Given the description of an element on the screen output the (x, y) to click on. 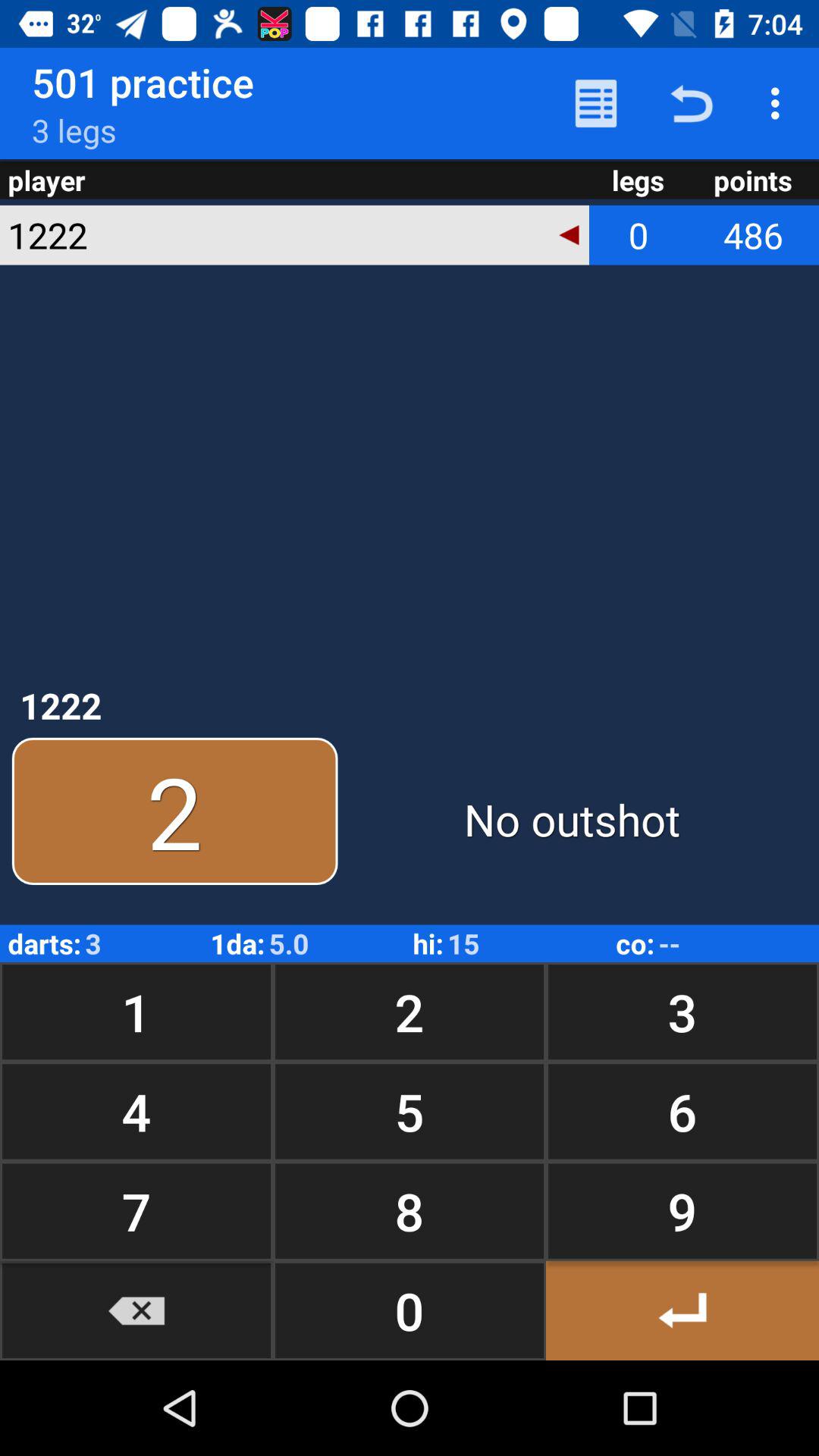
open the icon below 8 button (682, 1310)
